Given the description of an element on the screen output the (x, y) to click on. 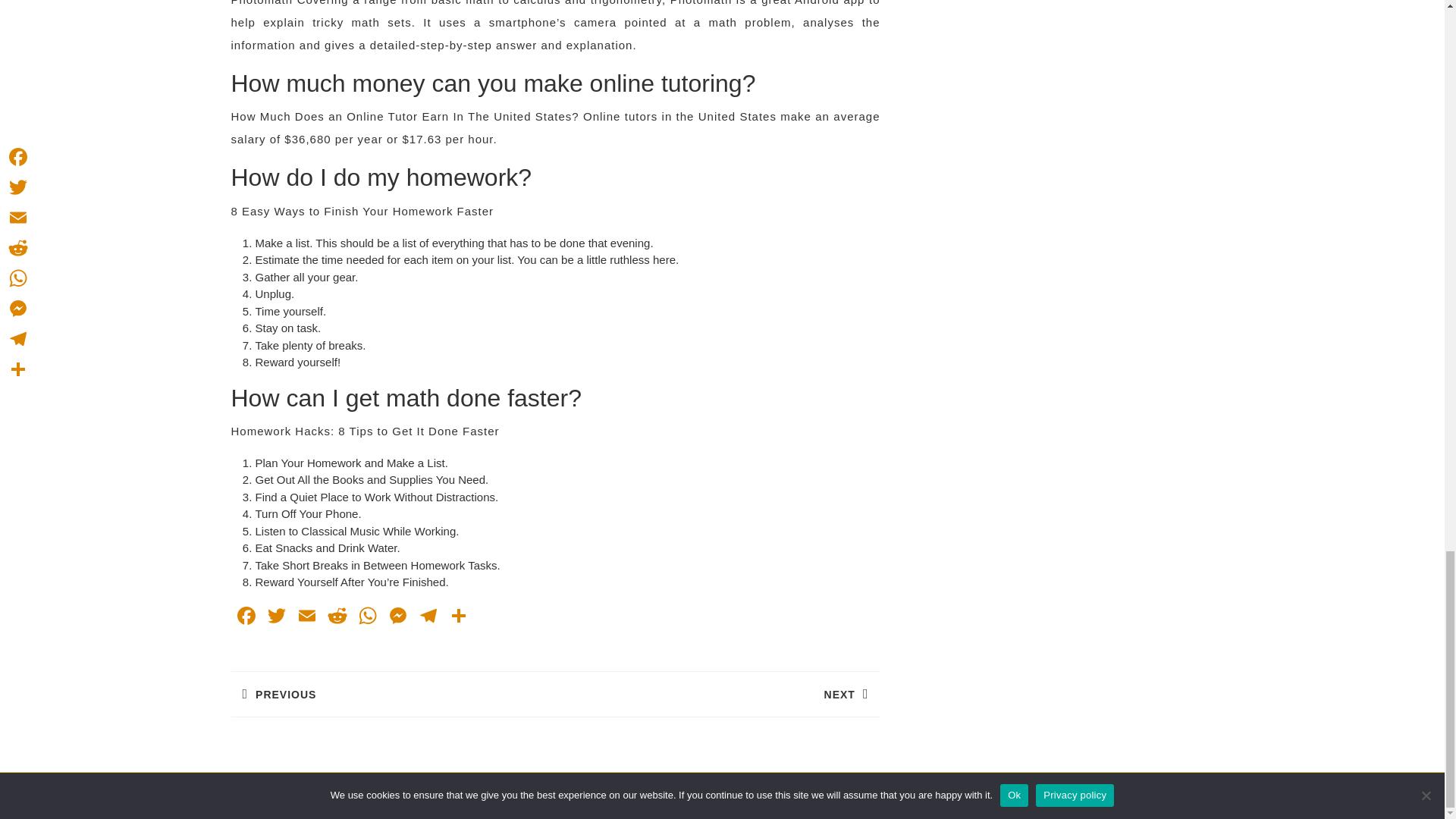
Twitter (275, 617)
Reddit (336, 617)
Messenger (396, 617)
WhatsApp (366, 617)
Twitter (275, 617)
Telegram (427, 617)
Email (306, 617)
Messenger (396, 617)
WhatsApp (366, 617)
